Given the description of an element on the screen output the (x, y) to click on. 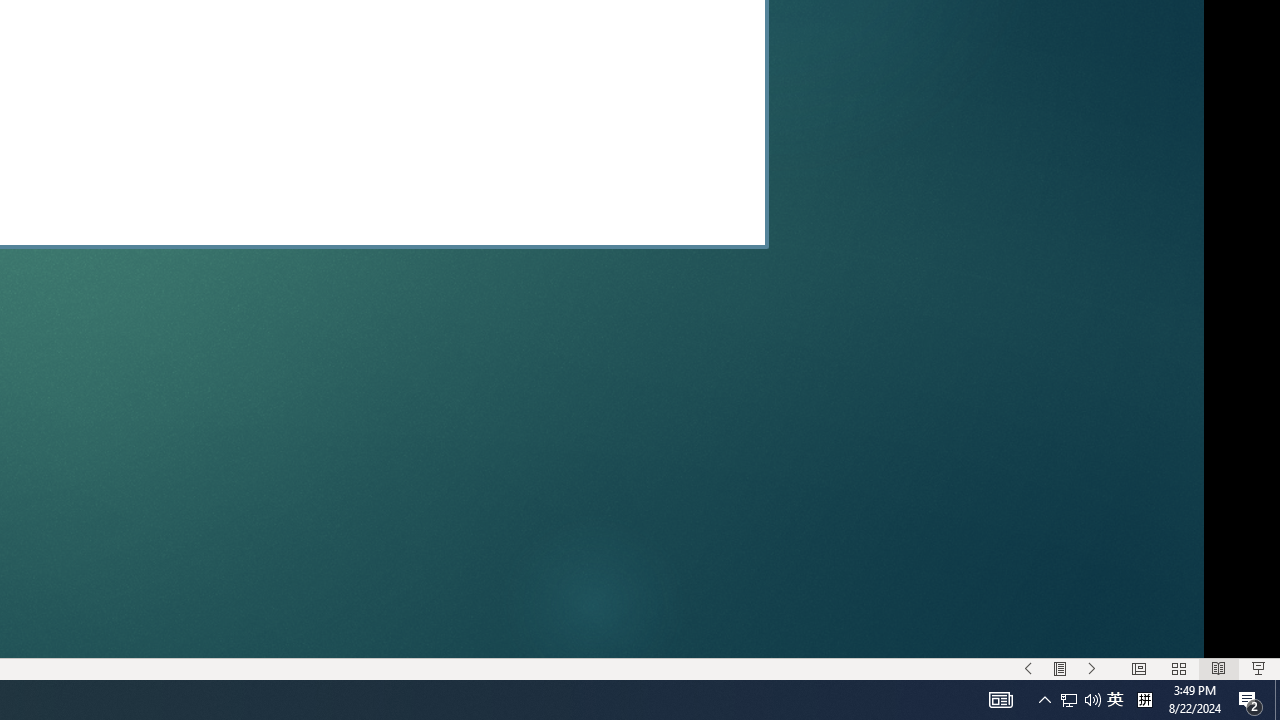
Menu On (1060, 668)
Slide Show Next On (1092, 668)
Slide Show Previous On (1028, 668)
